Given the description of an element on the screen output the (x, y) to click on. 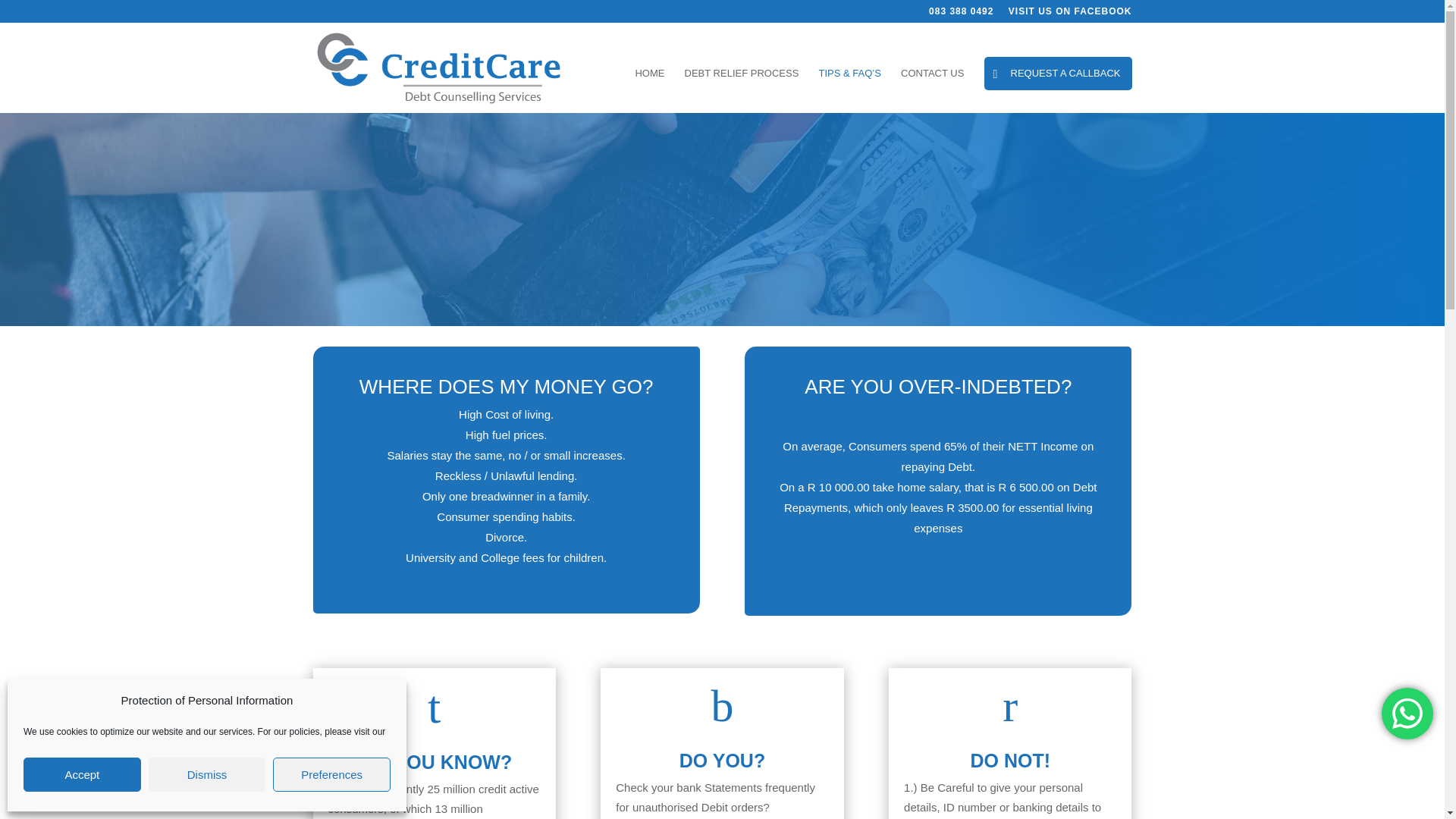
Accept (82, 774)
Preferences (331, 774)
Dismiss (207, 774)
CONTACT US (932, 90)
REQUEST A CALLBACK (1058, 73)
HOME (648, 90)
083 388 0492 (960, 14)
DEBT RELIEF PROCESS (741, 90)
VISIT US ON FACEBOOK (1070, 14)
